Given the description of an element on the screen output the (x, y) to click on. 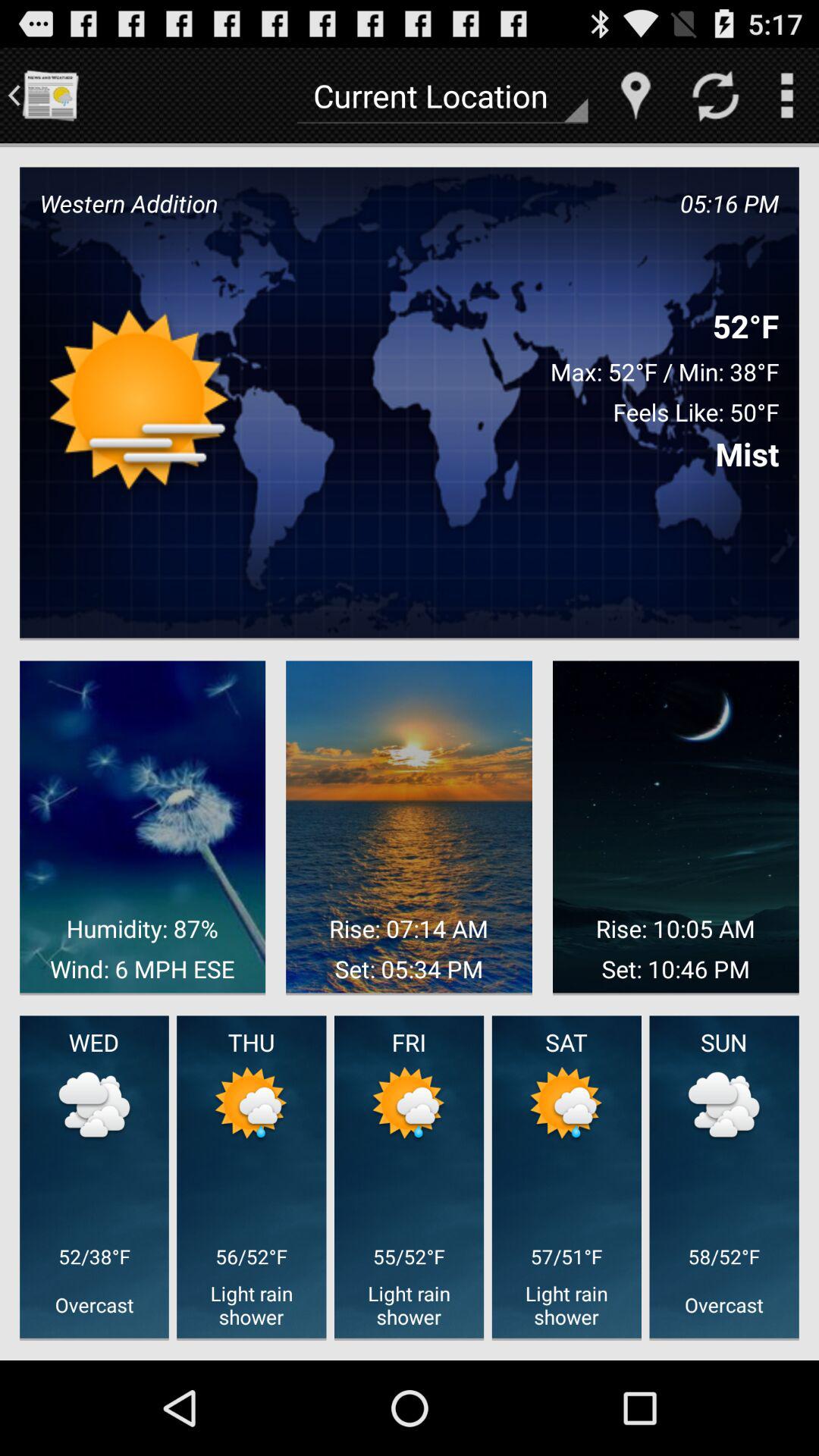
return to previous page (49, 95)
